Given the description of an element on the screen output the (x, y) to click on. 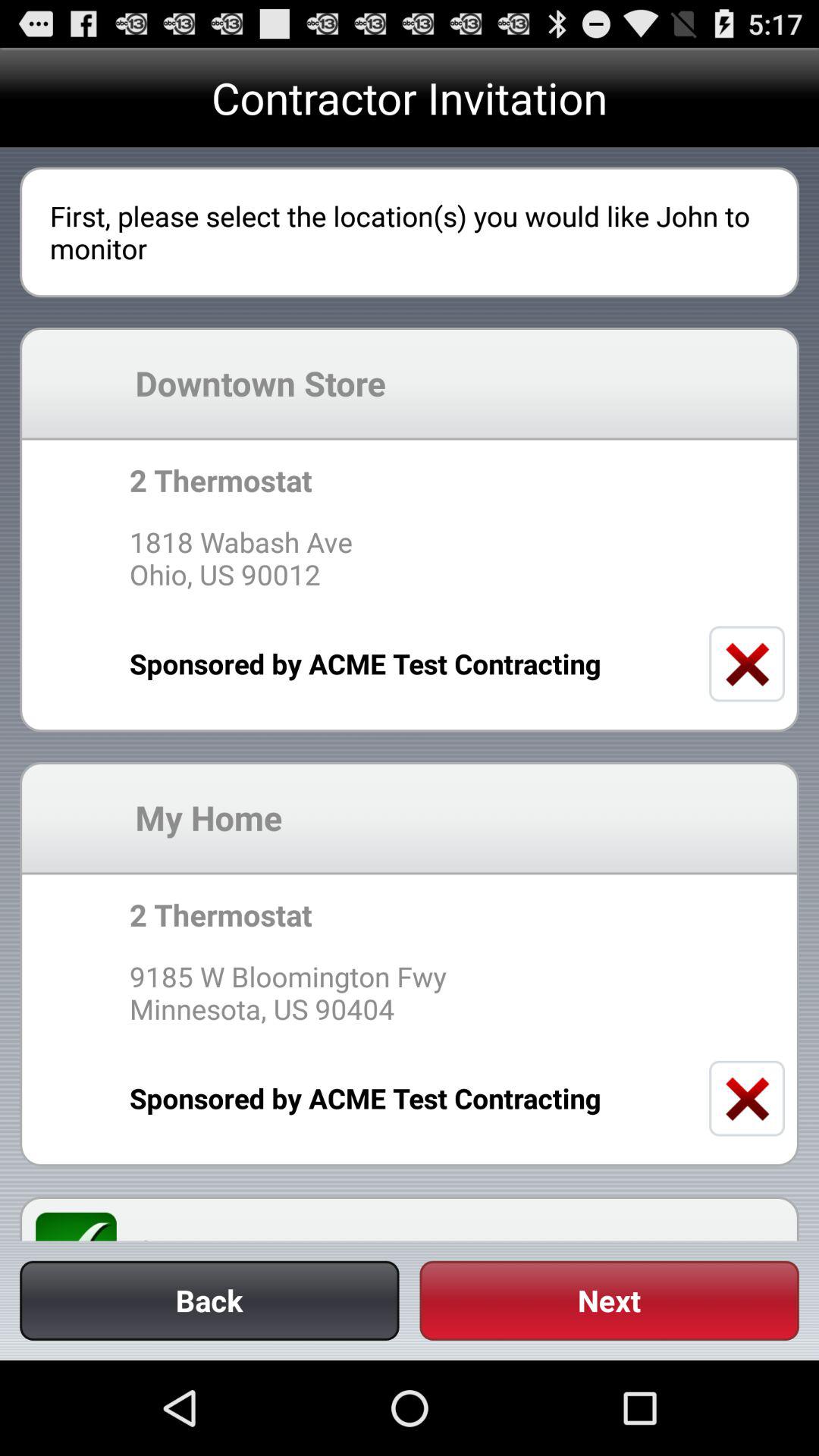
click the item next to summer home item (85, 1226)
